Given the description of an element on the screen output the (x, y) to click on. 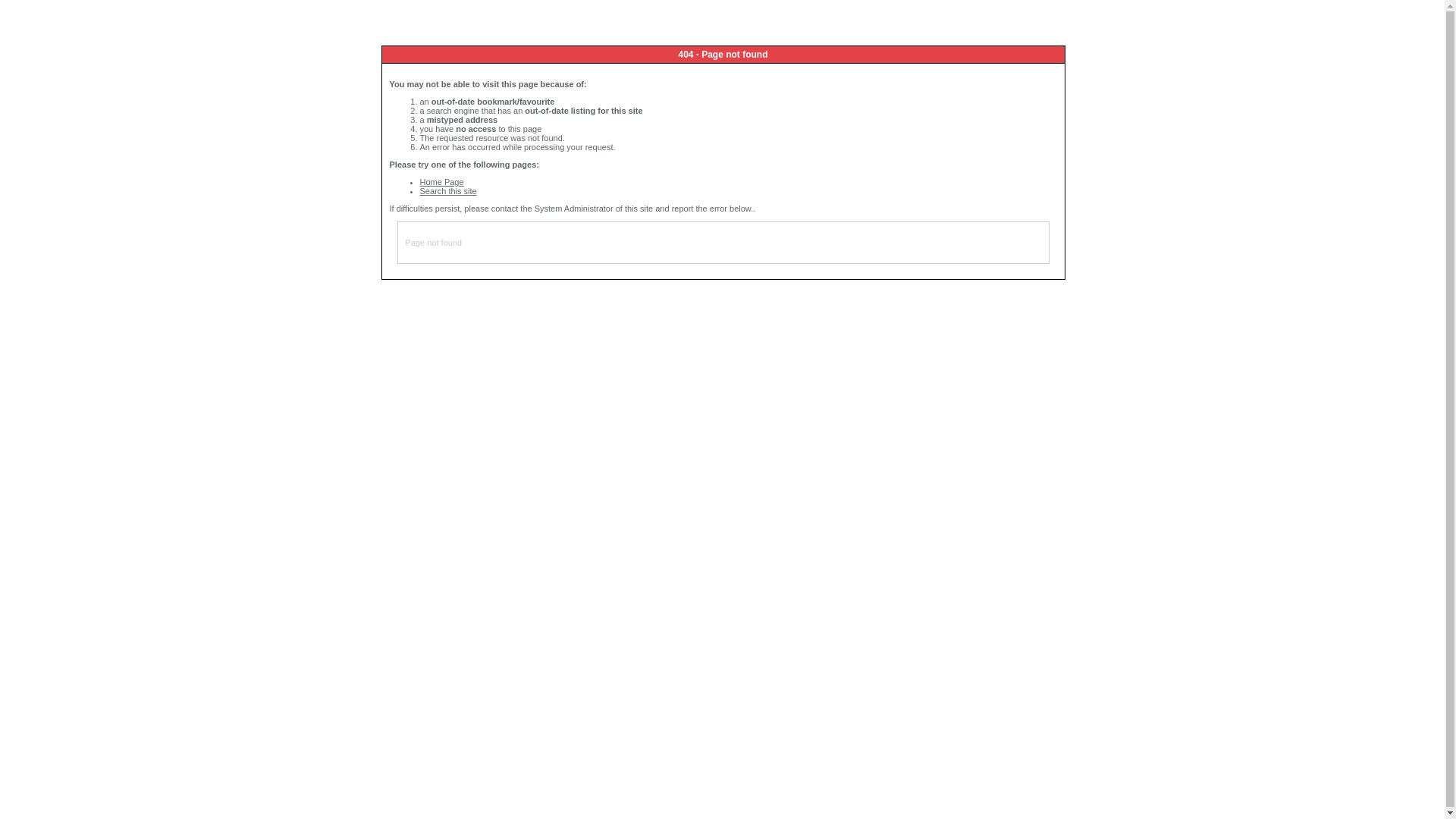
Search this site Element type: text (448, 190)
Home Page Element type: text (442, 181)
